Given the description of an element on the screen output the (x, y) to click on. 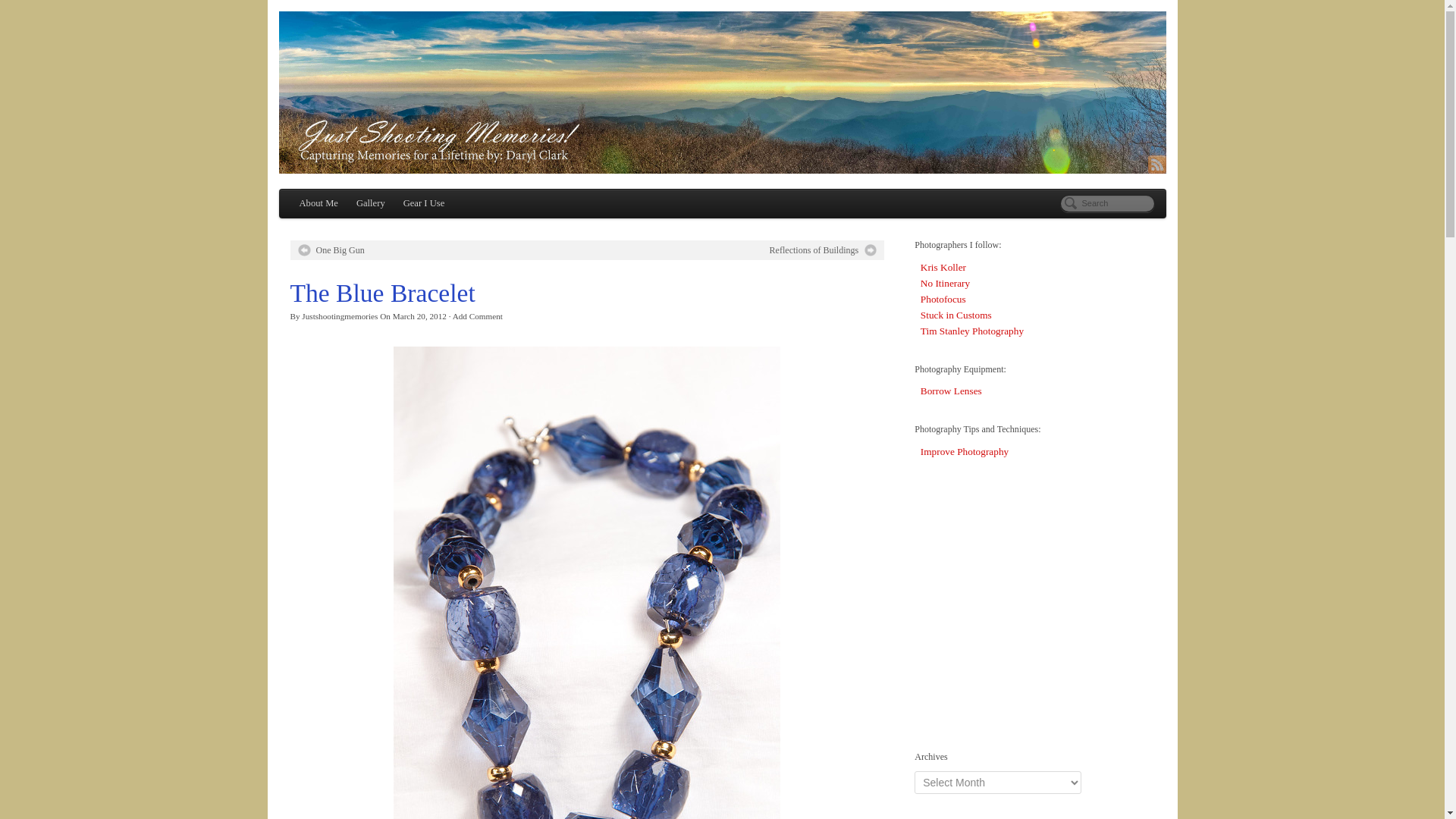
No Itinerary (944, 283)
Add Comment (477, 316)
Gallery (370, 203)
Tim Stanley Photography (971, 330)
Photofocus (943, 298)
One Big Gun (330, 250)
Camera Gear Rental (950, 390)
Justshootingmemories (339, 316)
The Blue Bracelet (586, 636)
Gear I Use (424, 203)
Daily Photo Blogger (943, 266)
Borrow Lenses (950, 390)
Reflections of Buildings (823, 250)
